Given the description of an element on the screen output the (x, y) to click on. 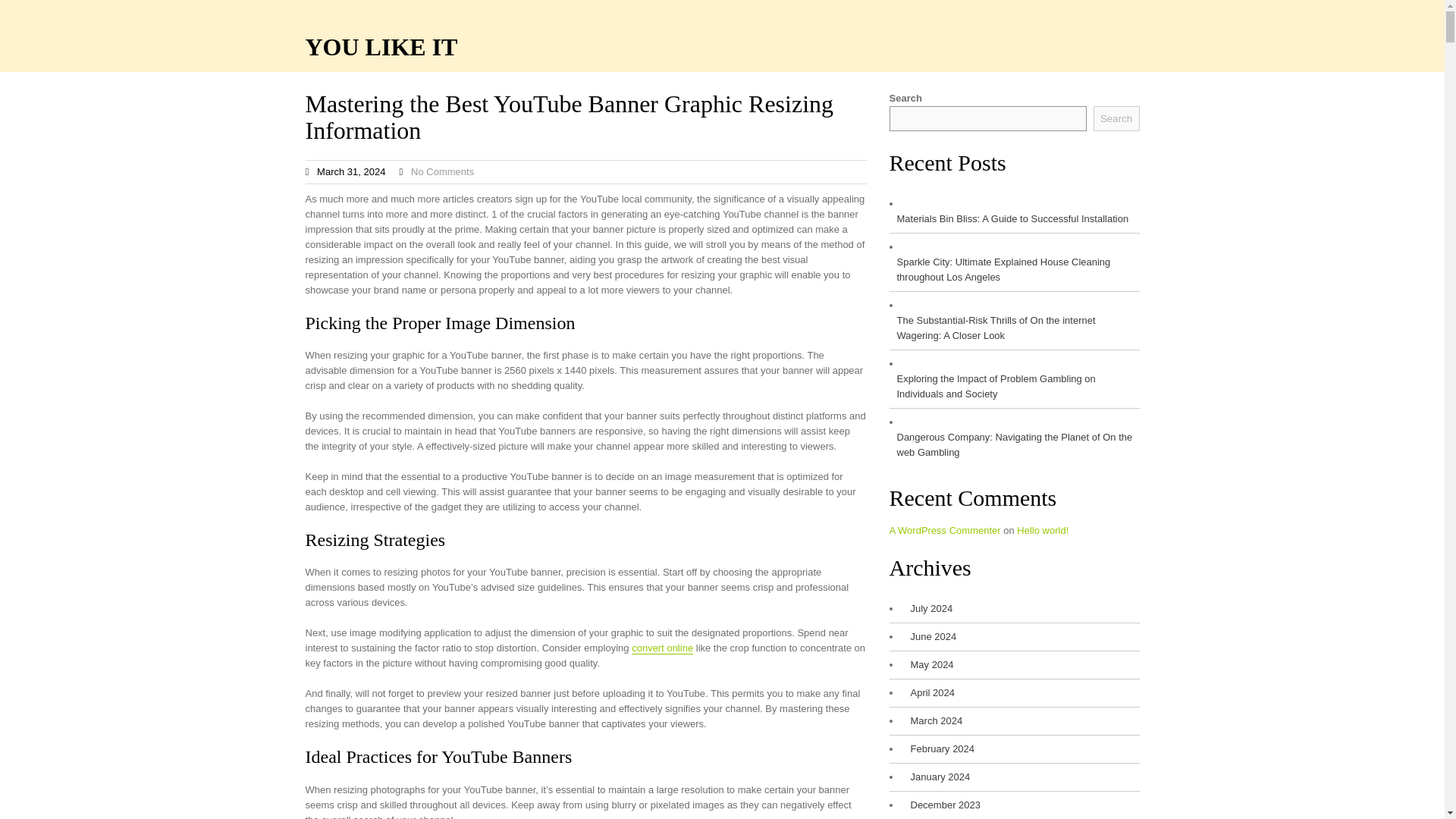
April 2024 (928, 693)
July 2024 (927, 608)
convert online (662, 648)
Materials Bin Bliss: A Guide to Successful Installation (1008, 218)
March 2024 (932, 720)
January 2024 (935, 776)
No Comments (442, 171)
YOU LIKE IT (380, 46)
December 2023 (940, 805)
February 2024 (938, 749)
Search (1116, 118)
June 2024 (929, 636)
